Given the description of an element on the screen output the (x, y) to click on. 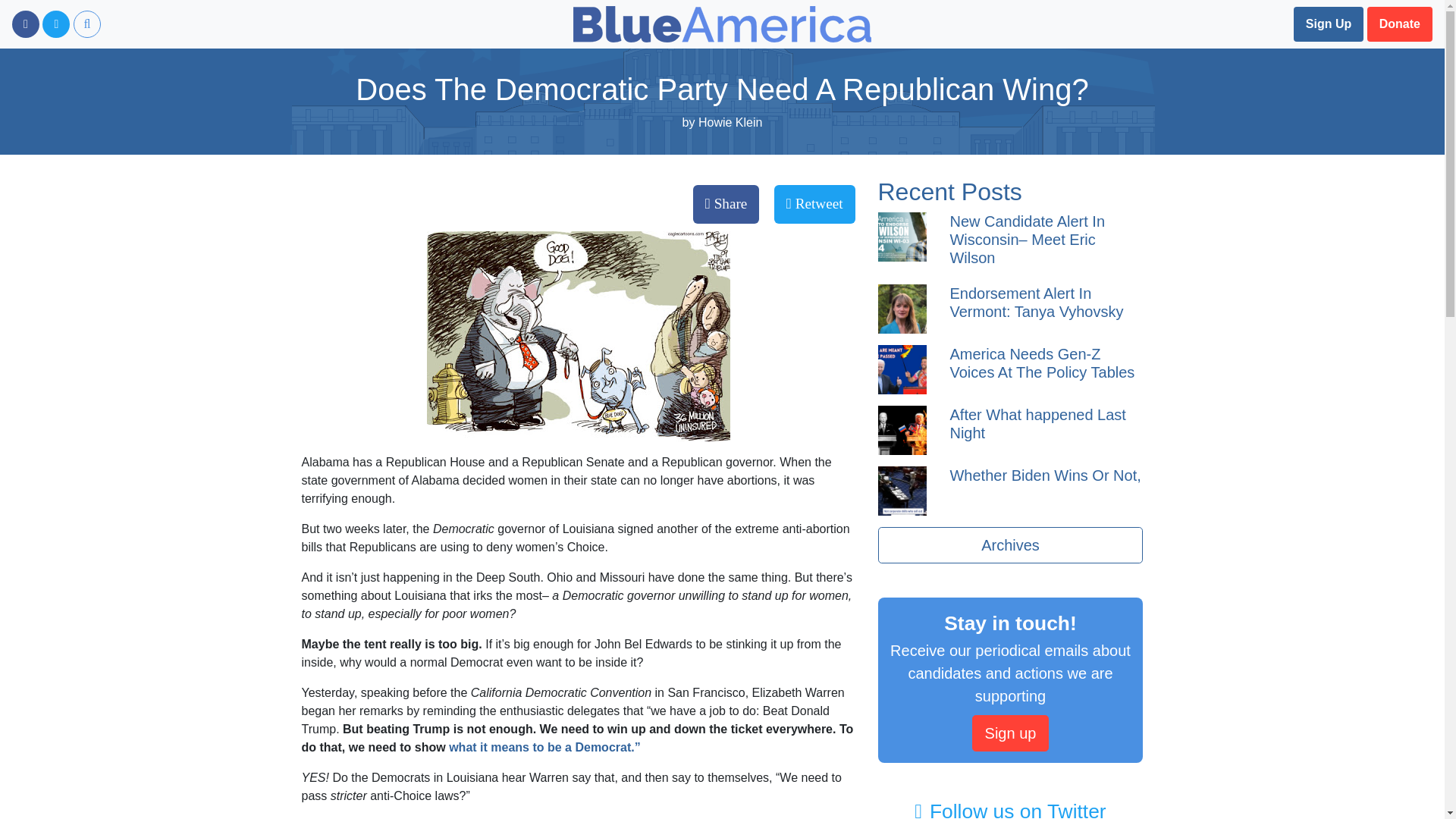
Sign Up (1328, 23)
Join our mailing list (1328, 23)
Share on Facebook (726, 204)
Howie Klein (729, 122)
Share (726, 204)
Archives (1009, 545)
After What happened Last Night (1037, 423)
Share on Twitter (815, 204)
Donate (1399, 23)
Like us on Facebook (25, 23)
Retweet (815, 204)
America Needs Gen-Z Voices At The Policy Tables (1041, 362)
Endorsement Alert In Vermont: Tanya Vyhovsky (1035, 302)
Follow us on Twitter (55, 23)
Support our candidates (1399, 23)
